Given the description of an element on the screen output the (x, y) to click on. 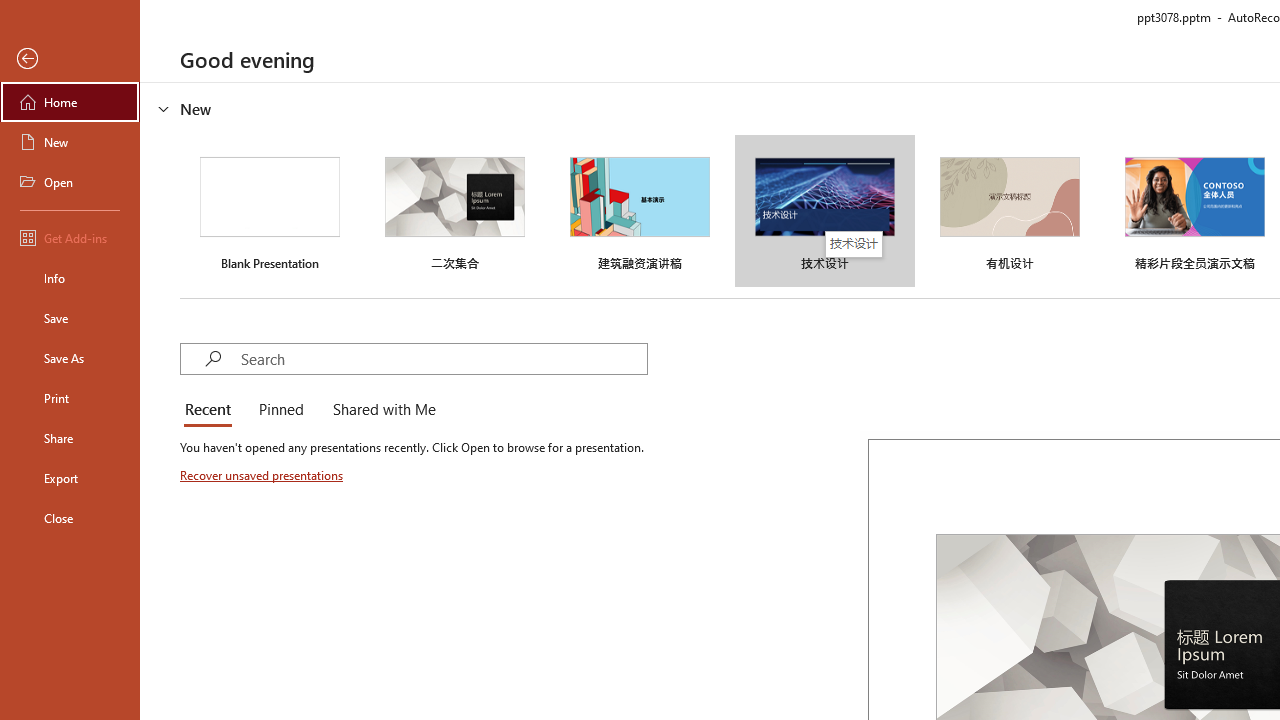
Print (69, 398)
Hide or show region (164, 108)
Recover unsaved presentations (263, 475)
Recent (212, 410)
Shared with Me (379, 410)
Export (69, 477)
Pinned (280, 410)
Blank Presentation (269, 211)
Get Add-ins (69, 237)
Info (69, 277)
